Given the description of an element on the screen output the (x, y) to click on. 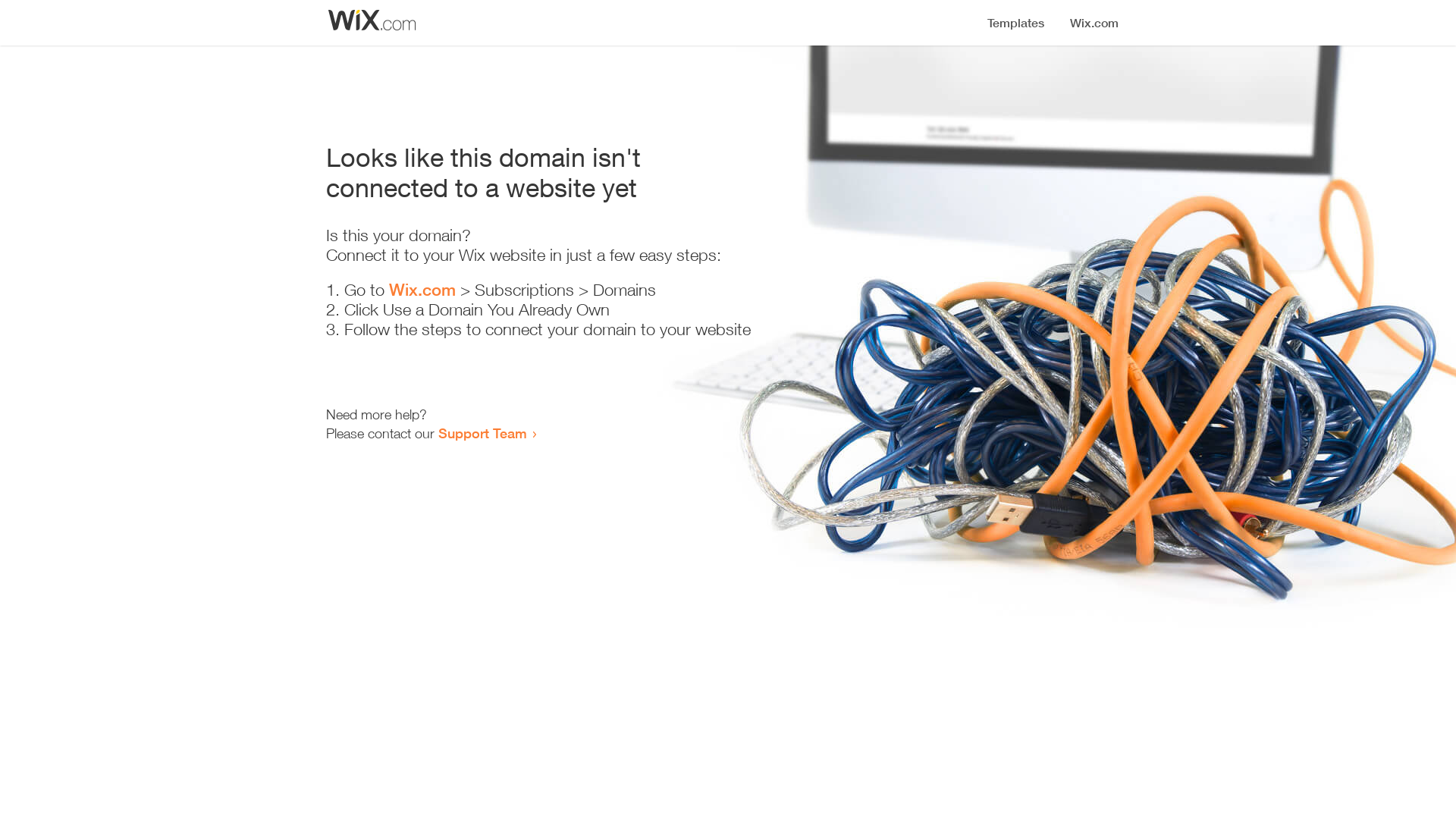
Support Team Element type: text (482, 432)
Wix.com Element type: text (422, 289)
